Given the description of an element on the screen output the (x, y) to click on. 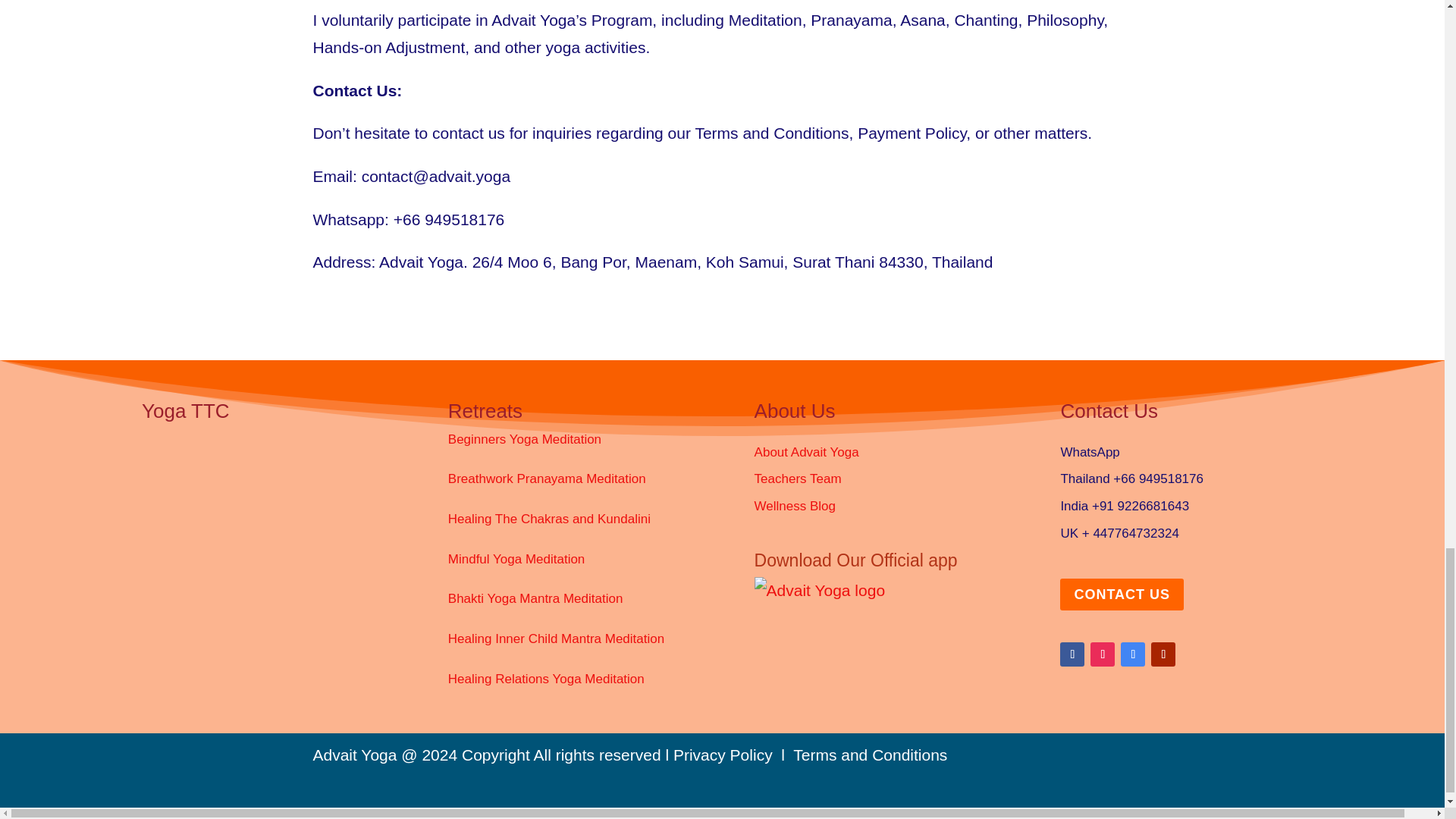
Teachers Team (797, 478)
Follow on Youtube (1162, 654)
Follow on Facebook (1071, 654)
CONTACT US (1121, 593)
Healing Relations Yoga Meditation (546, 678)
Mindful Yoga Meditation (516, 559)
Breathwork Pranayama Meditation (547, 478)
Wellness Blog (794, 505)
Follow on Google (1132, 654)
About Advait Yoga (806, 452)
Follow on Instagram (1102, 654)
Beginners Yoga Meditation (524, 439)
Healing The Chakras and Kundalini (549, 518)
Healing Inner Child Mantra Meditation (555, 638)
